Given the description of an element on the screen output the (x, y) to click on. 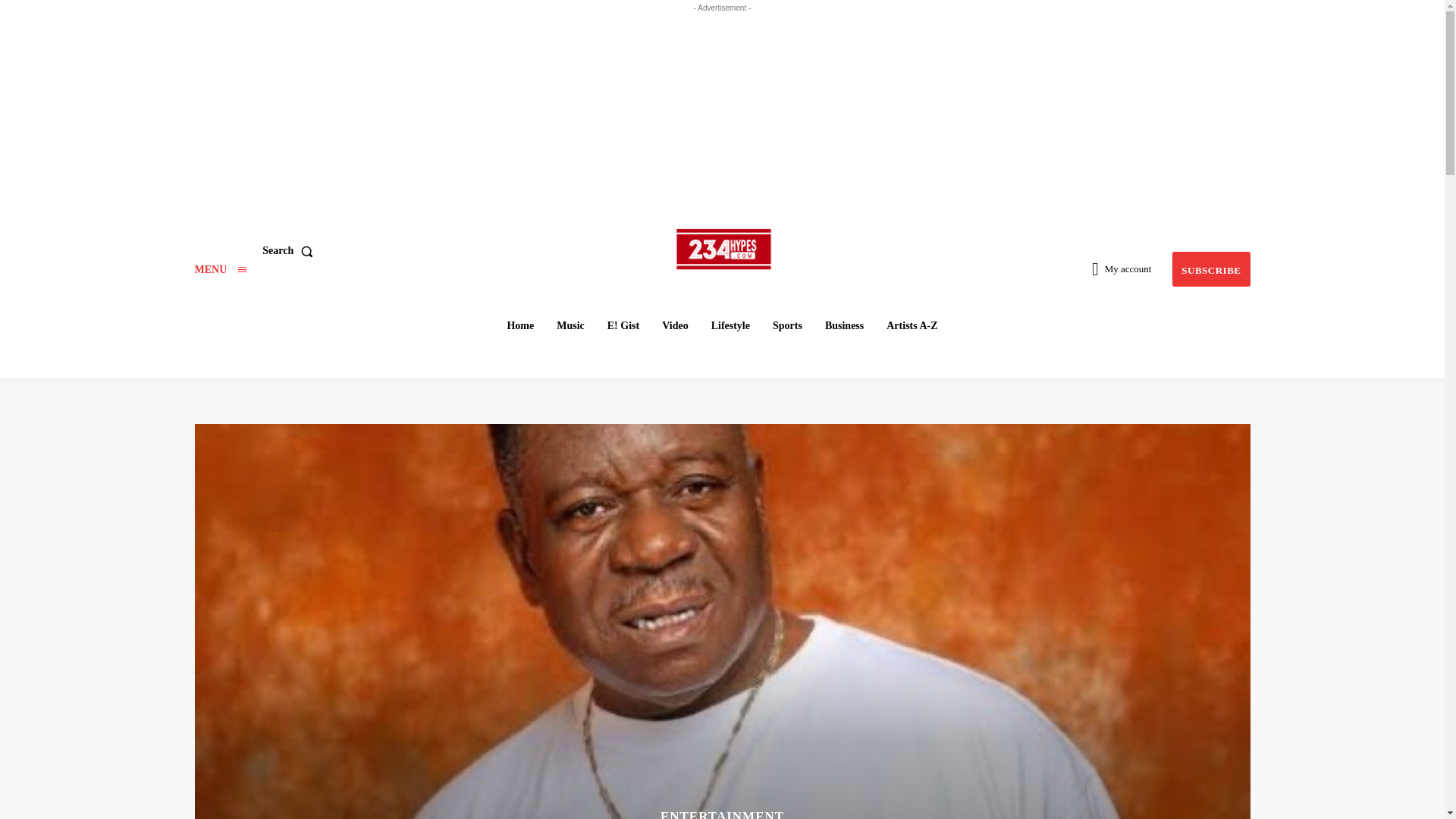
Artists A-Z (911, 326)
Business (843, 326)
Video (674, 326)
SUBSCRIBE (1210, 269)
MENU (220, 269)
Lifestyle (730, 326)
Home (520, 326)
E! Gist (622, 326)
Music (570, 326)
